Given the description of an element on the screen output the (x, y) to click on. 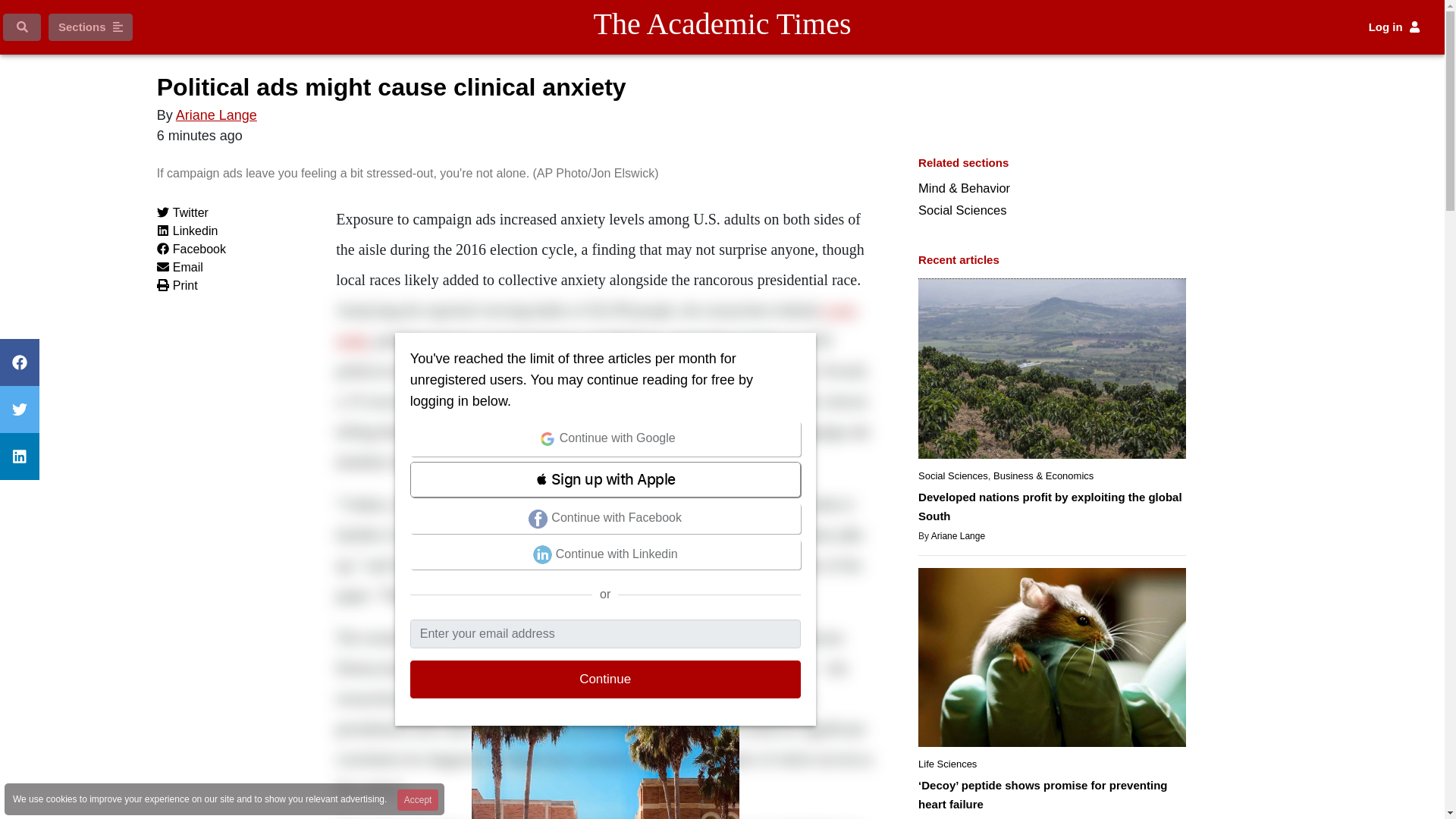
Follow The Academic Times on Linkedin (19, 456)
Share on facebook (191, 248)
Continue with Linkedin (605, 554)
Print (177, 285)
Facebook (191, 248)
Sections (90, 27)
Print article (177, 285)
Email (180, 267)
Send email (180, 267)
Log in (1393, 27)
Log in (1393, 27)
Continue (605, 679)
Linkedin (187, 230)
Share on twitter (182, 212)
Search (21, 27)
